Given the description of an element on the screen output the (x, y) to click on. 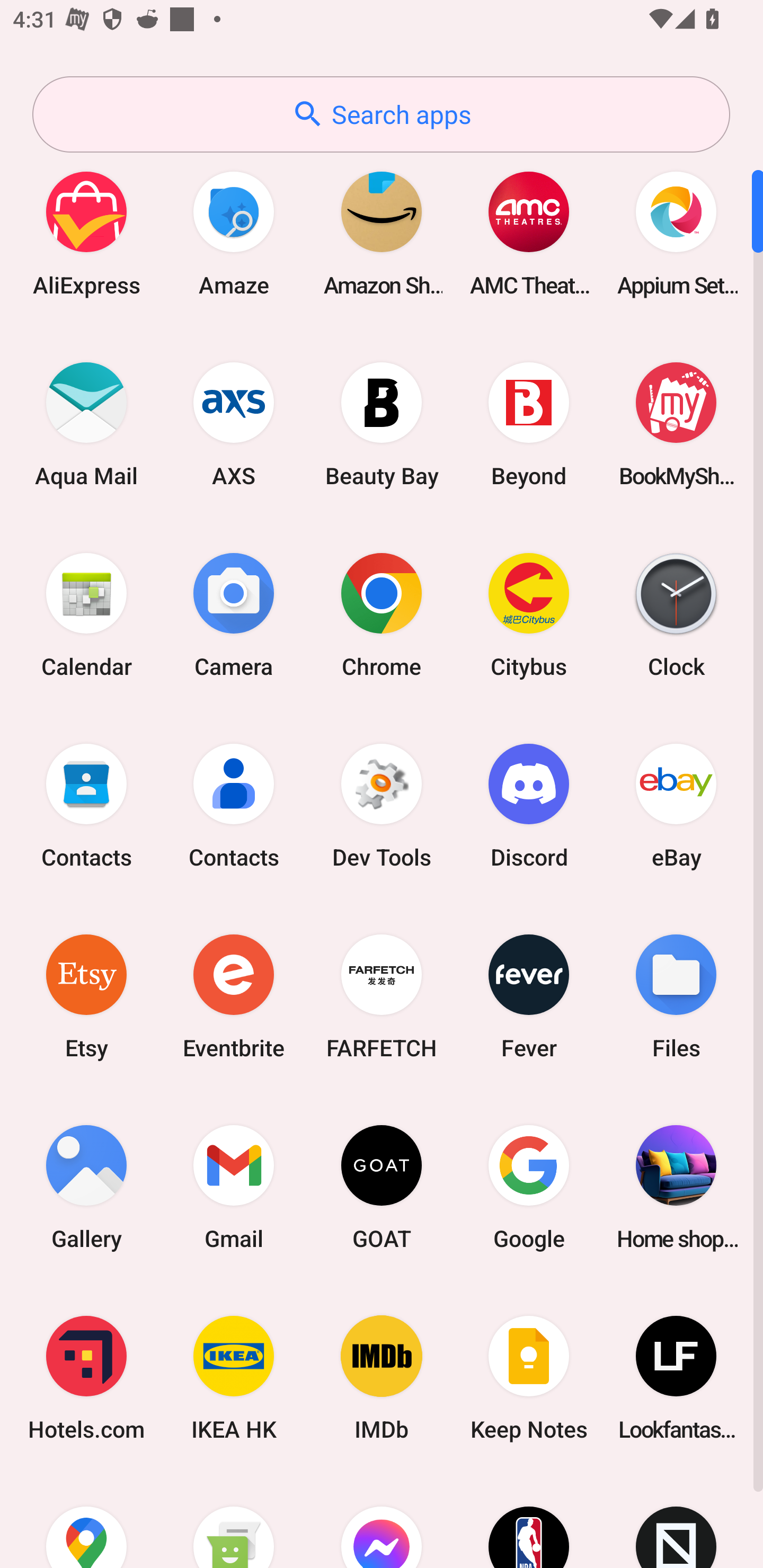
  Search apps (381, 114)
AliExpress (86, 233)
Amaze (233, 233)
Amazon Shopping (381, 233)
AMC Theatres (528, 233)
Appium Settings (676, 233)
Aqua Mail (86, 424)
AXS (233, 424)
Beauty Bay (381, 424)
Beyond (528, 424)
BookMyShow (676, 424)
Calendar (86, 614)
Camera (233, 614)
Chrome (381, 614)
Citybus (528, 614)
Clock (676, 614)
Contacts (86, 805)
Contacts (233, 805)
Dev Tools (381, 805)
Discord (528, 805)
eBay (676, 805)
Etsy (86, 996)
Eventbrite (233, 996)
FARFETCH (381, 996)
Fever (528, 996)
Files (676, 996)
Gallery (86, 1186)
Gmail (233, 1186)
GOAT (381, 1186)
Google (528, 1186)
Home shopping (676, 1186)
Hotels.com (86, 1377)
IKEA HK (233, 1377)
IMDb (381, 1377)
Keep Notes (528, 1377)
Lookfantastic (676, 1377)
